Given the description of an element on the screen output the (x, y) to click on. 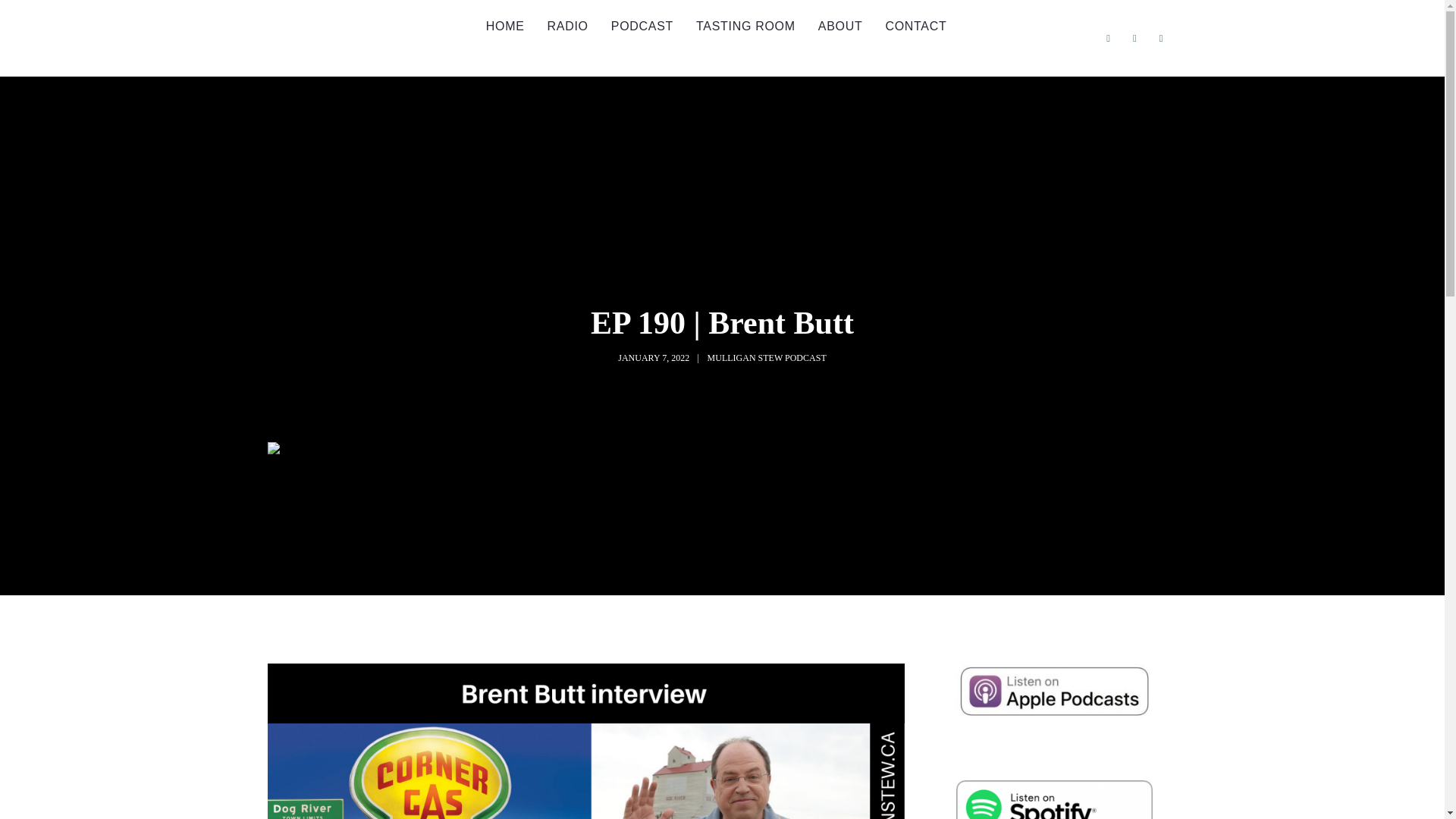
MULLIGAN STEW PODCAST (767, 357)
CONTACT (915, 26)
HOME (504, 26)
TASTING ROOM (745, 26)
ABOUT (840, 26)
Libsyn Player (721, 476)
RADIO (567, 26)
PODCAST (641, 26)
